Given the description of an element on the screen output the (x, y) to click on. 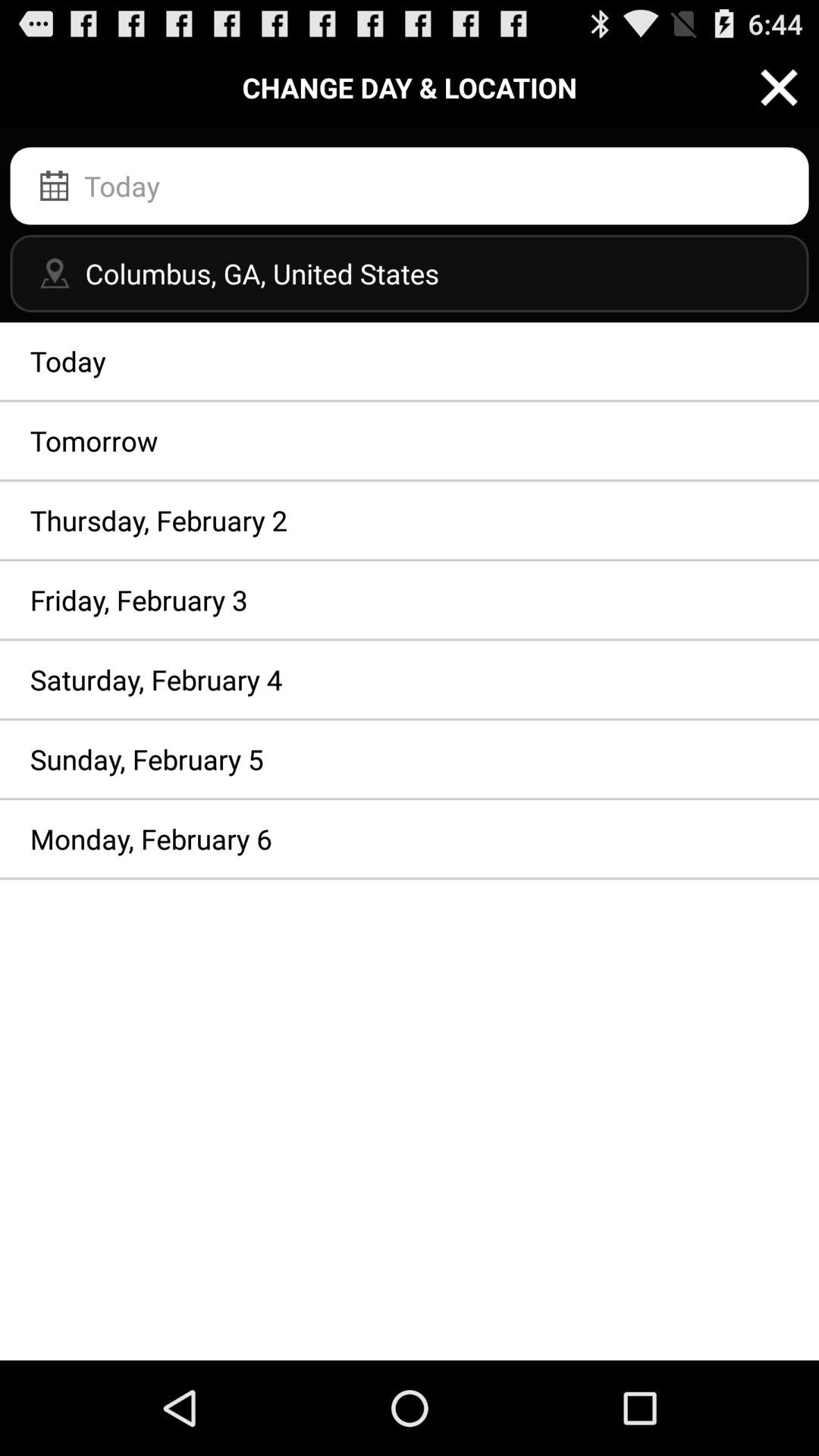
turn off columbus ga united item (409, 273)
